Given the description of an element on the screen output the (x, y) to click on. 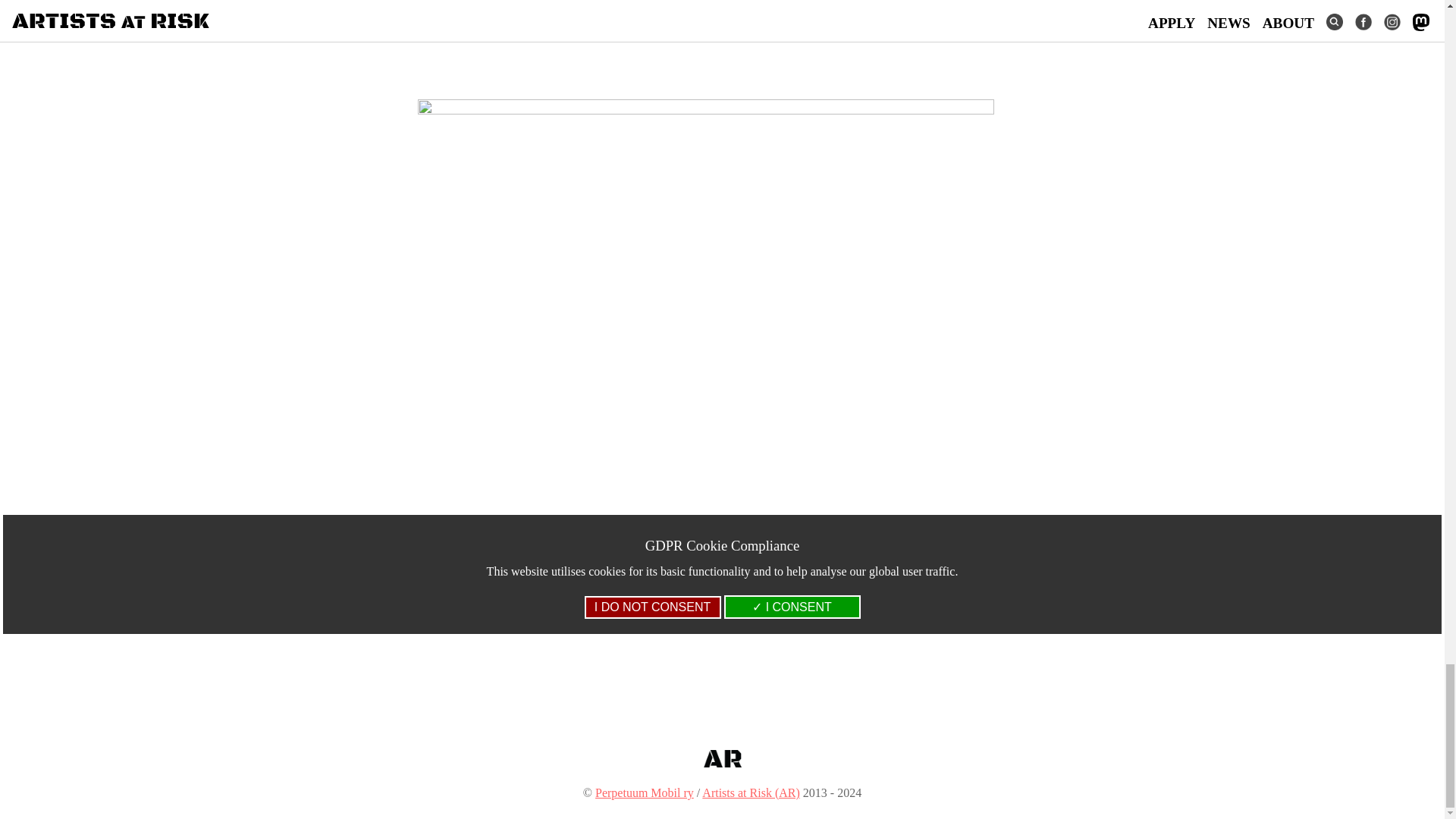
Perpetuum Mobil ry (644, 792)
